Given the description of an element on the screen output the (x, y) to click on. 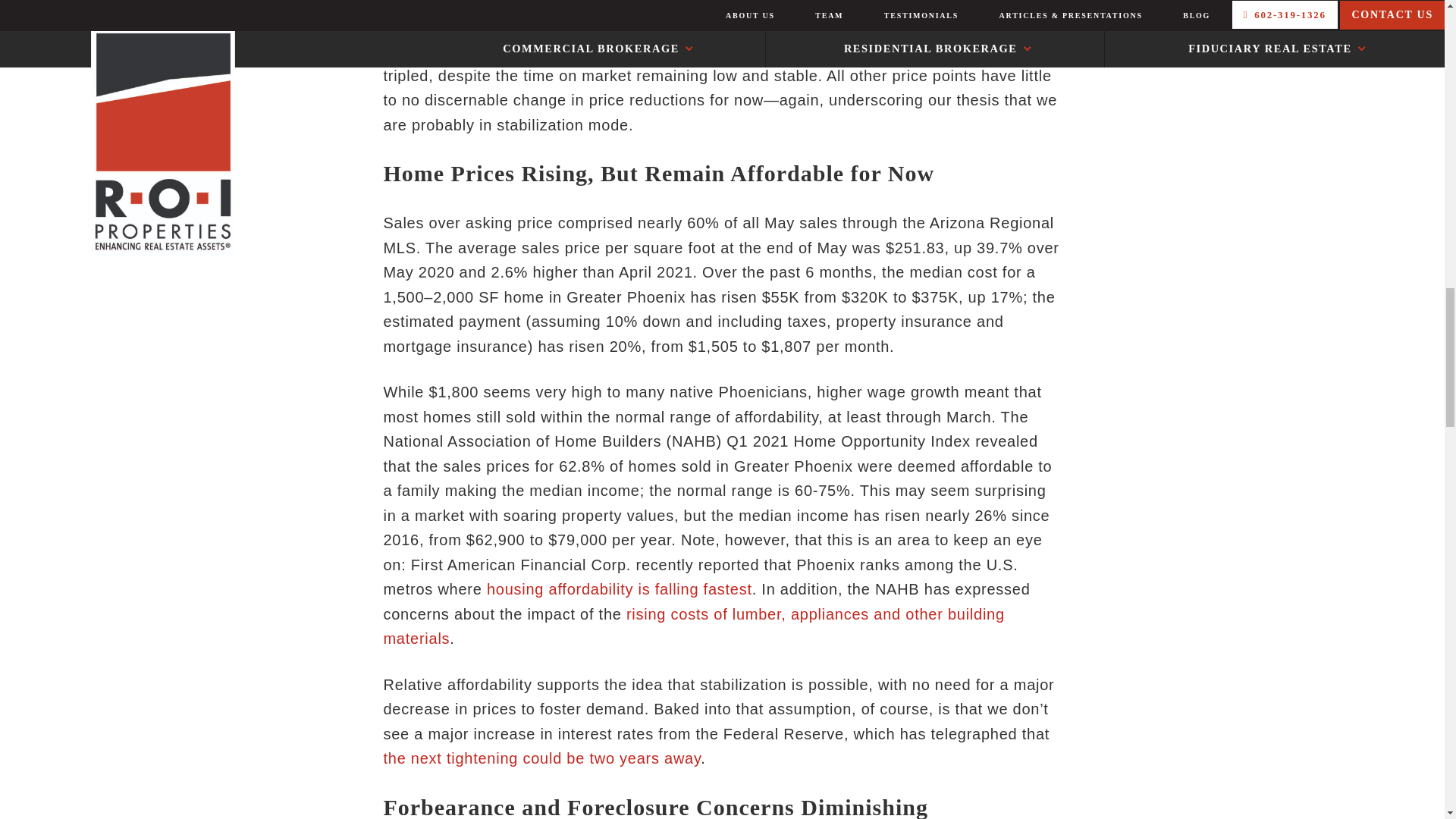
the next tightening could be two years away (541, 758)
housing affordability is falling fastest (619, 588)
